Given the description of an element on the screen output the (x, y) to click on. 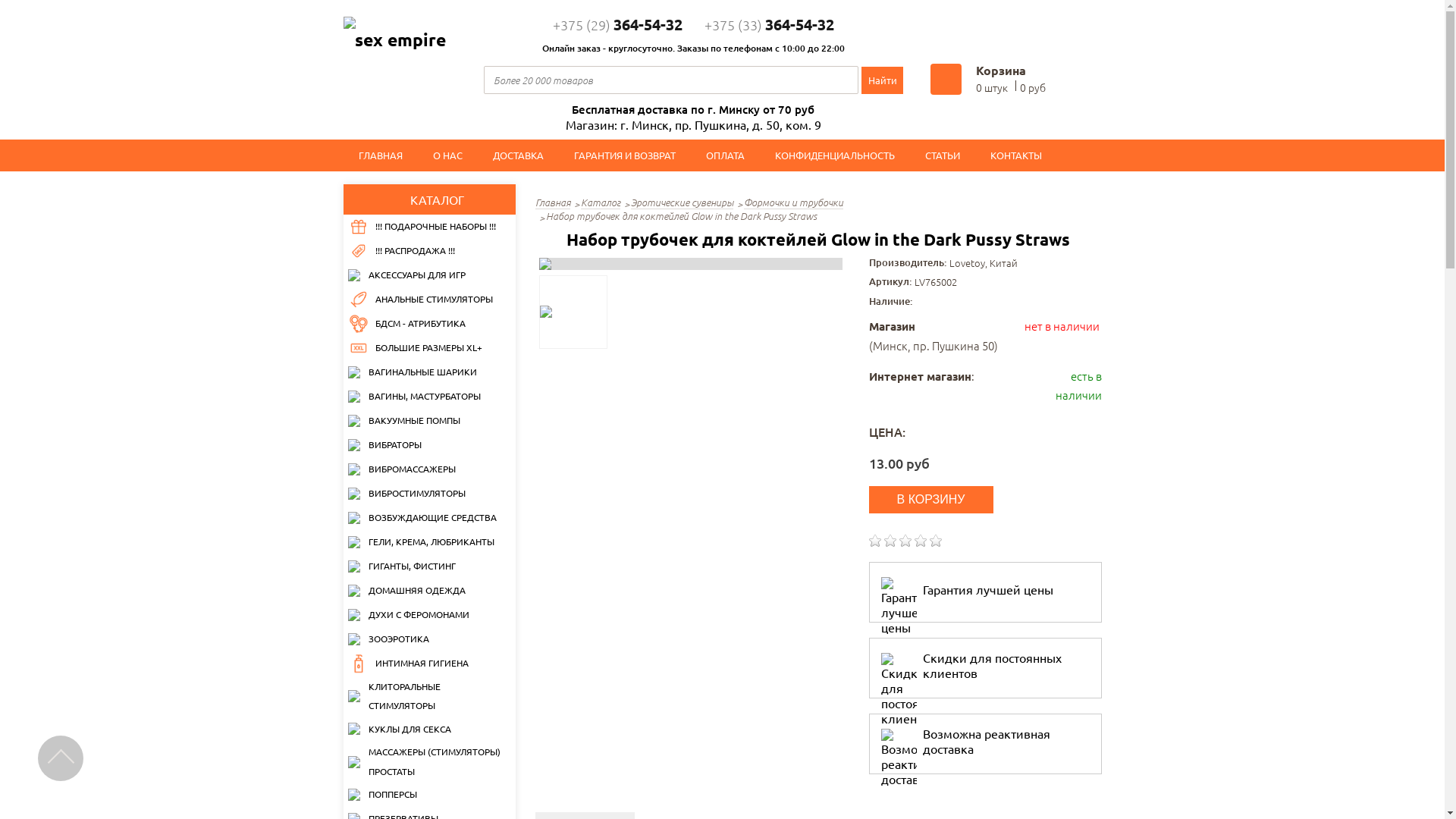
+375 (29)364-54-32 Element type: text (617, 24)
0 Element type: hover (905, 540)
+375 (33)364-54-32 Element type: text (769, 24)
